Given the description of an element on the screen output the (x, y) to click on. 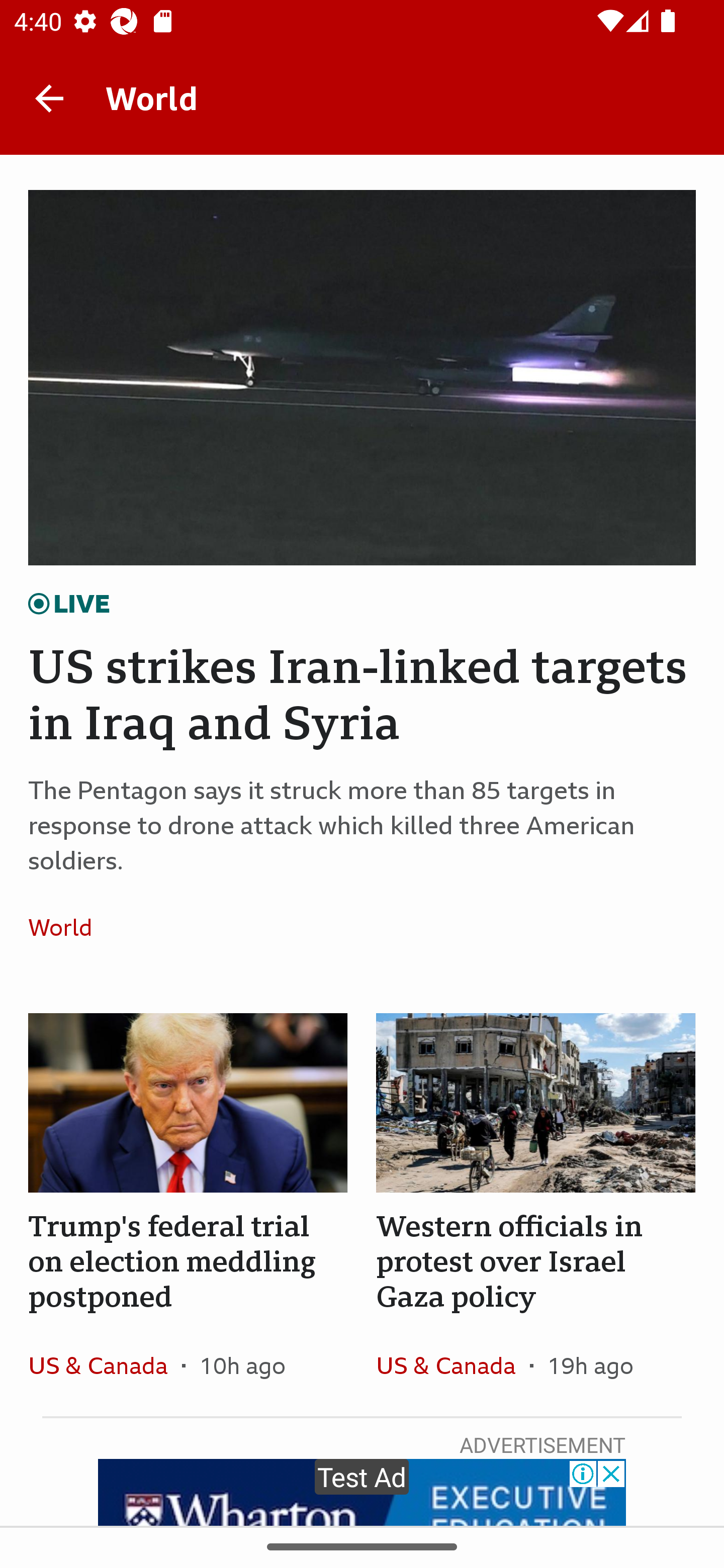
Back (49, 97)
World In the section World (67, 927)
US & Canada In the section US & Canada (104, 1364)
US & Canada In the section US & Canada (452, 1364)
